Given the description of an element on the screen output the (x, y) to click on. 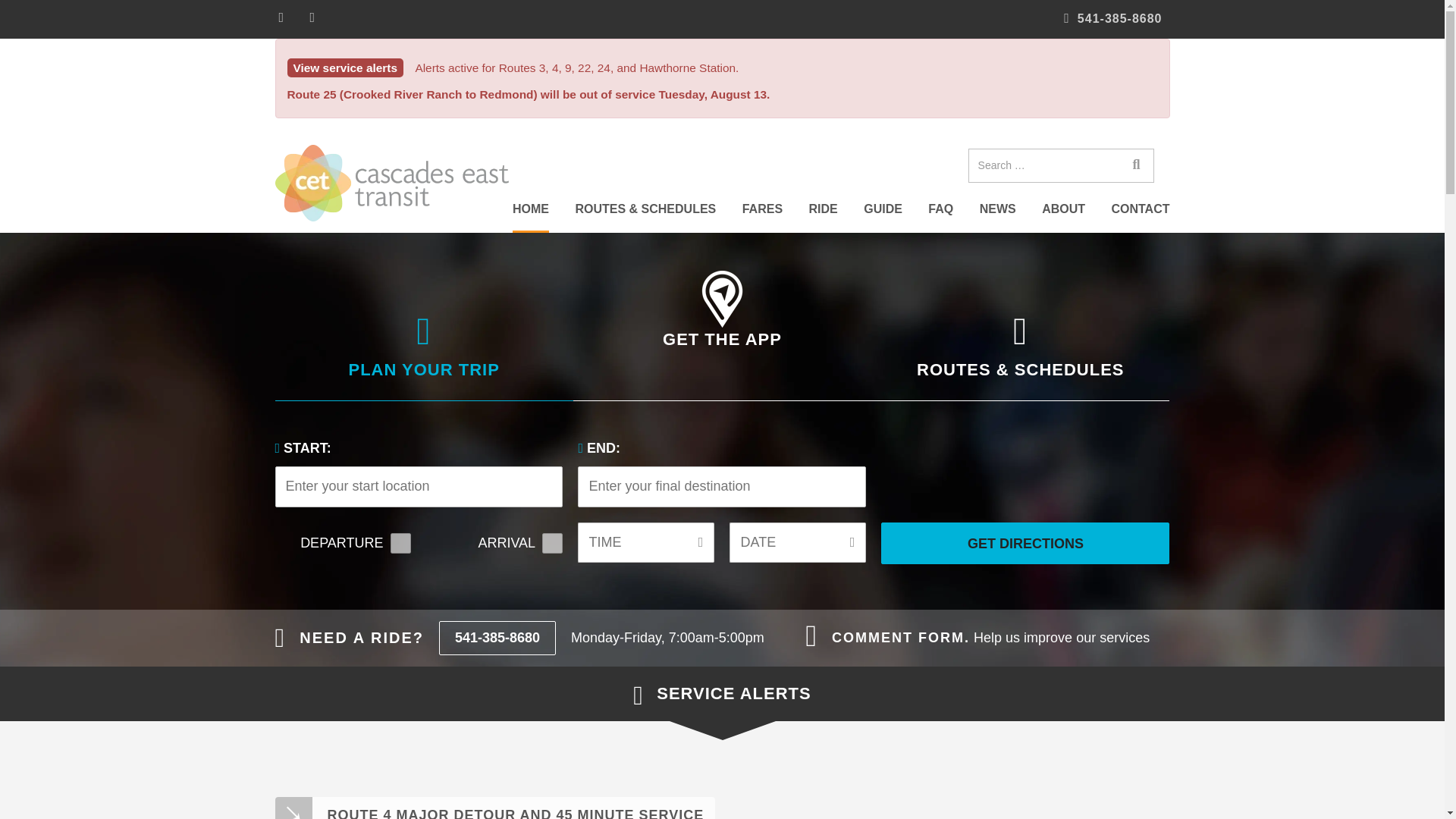
541-385-8680 (1112, 19)
CONTACT (1139, 210)
GET DIRECTIONS (1024, 543)
search-form (1061, 165)
dep (400, 543)
arr (551, 543)
Search for: (1043, 165)
View service alerts (344, 67)
FARES (762, 210)
ABOUT (1063, 210)
